Given the description of an element on the screen output the (x, y) to click on. 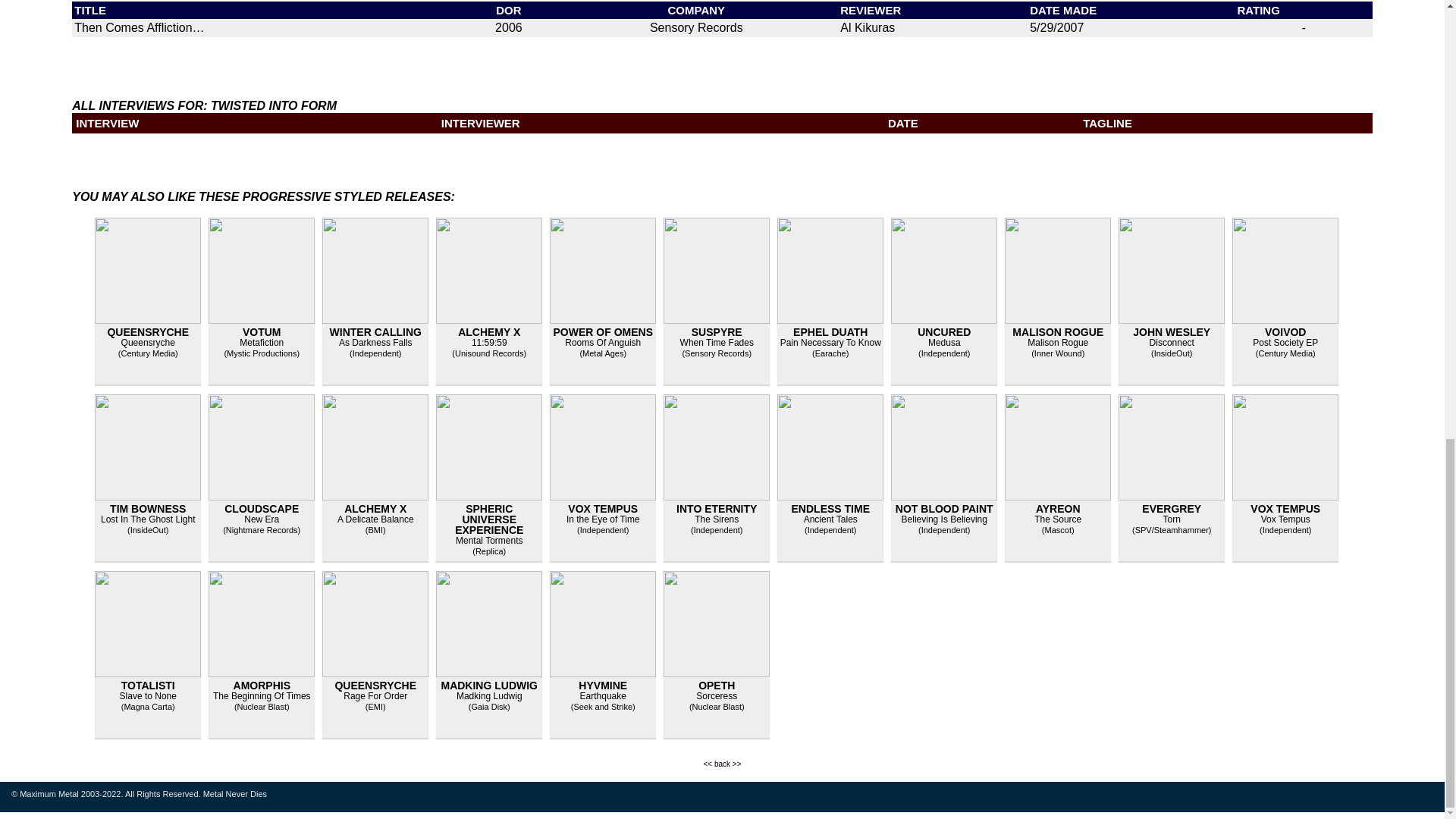
Malison Rogue (1057, 342)
QUEENSRYCHE (147, 331)
POWER OF OMENS (602, 331)
SUSPYRE (716, 331)
Medusa (944, 342)
11:59:59 (488, 342)
UNCURED (944, 331)
Metafiction (261, 342)
MALISON ROGUE (1057, 331)
Pain Necessary To Know (830, 342)
